Given the description of an element on the screen output the (x, y) to click on. 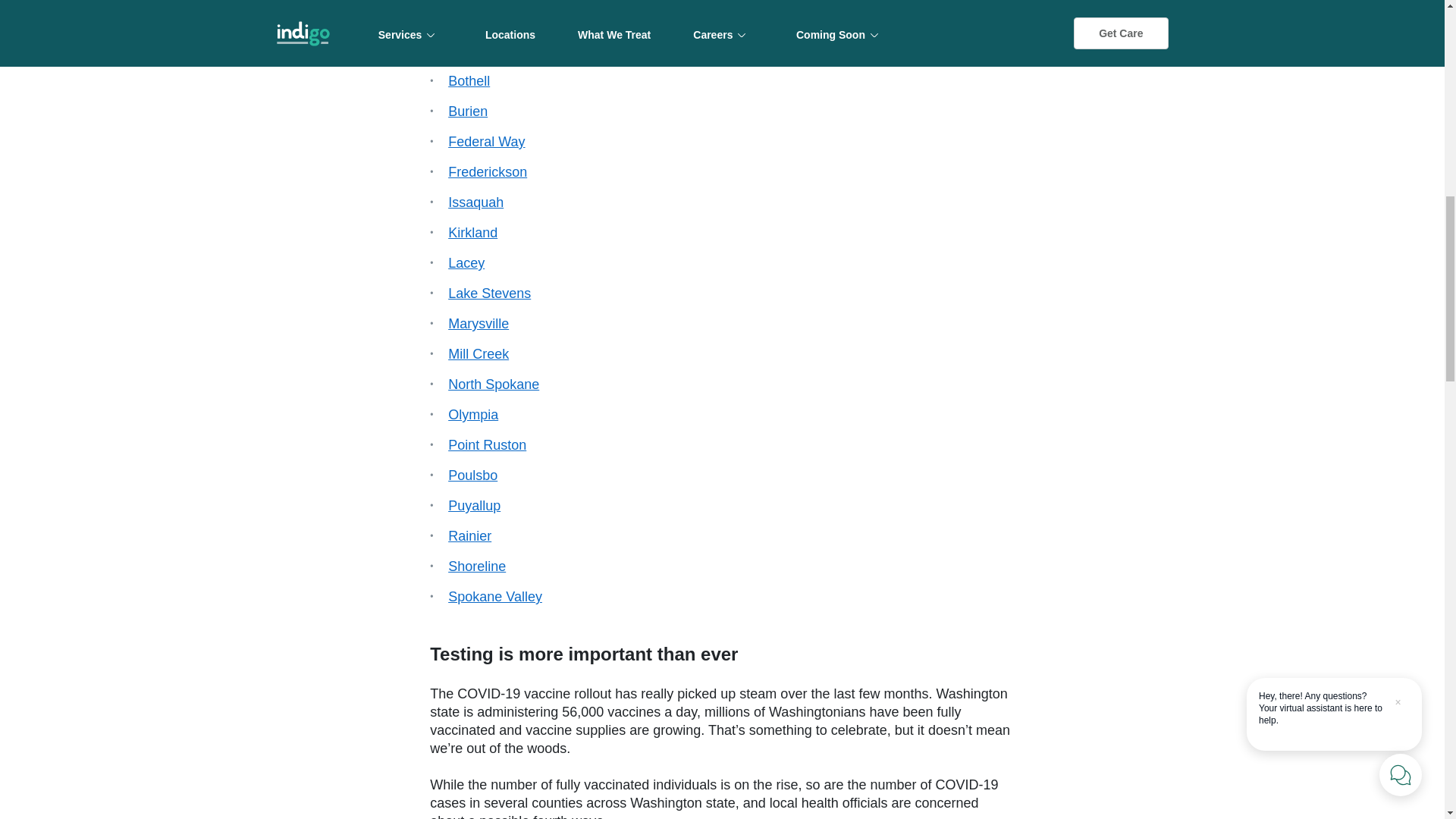
Bothell (468, 80)
Burien (467, 111)
Federal Way (486, 141)
Bonney Lake (487, 50)
Kirkland (472, 232)
North Spokane (493, 384)
Lacey (466, 263)
Frederickson (487, 171)
Lake Stevens (489, 293)
Mill Creek (478, 353)
